Given the description of an element on the screen output the (x, y) to click on. 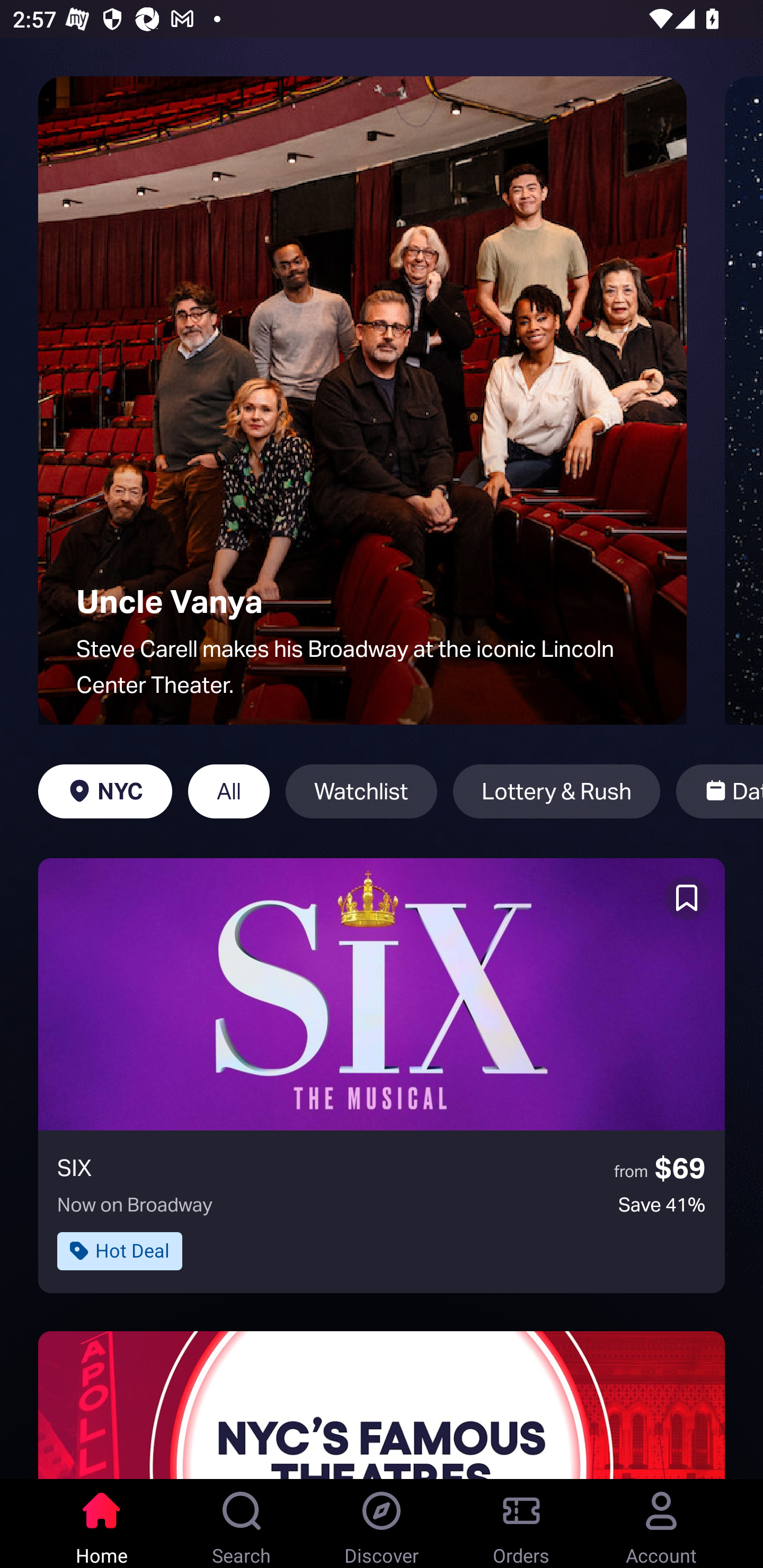
NYC (105, 791)
All (228, 791)
Watchlist (361, 791)
Lottery & Rush (556, 791)
Date (719, 791)
SIX from $69 Now on Broadway Save 41% Hot Deal (381, 1075)
Search (241, 1523)
Discover (381, 1523)
Orders (521, 1523)
Account (660, 1523)
